Given the description of an element on the screen output the (x, y) to click on. 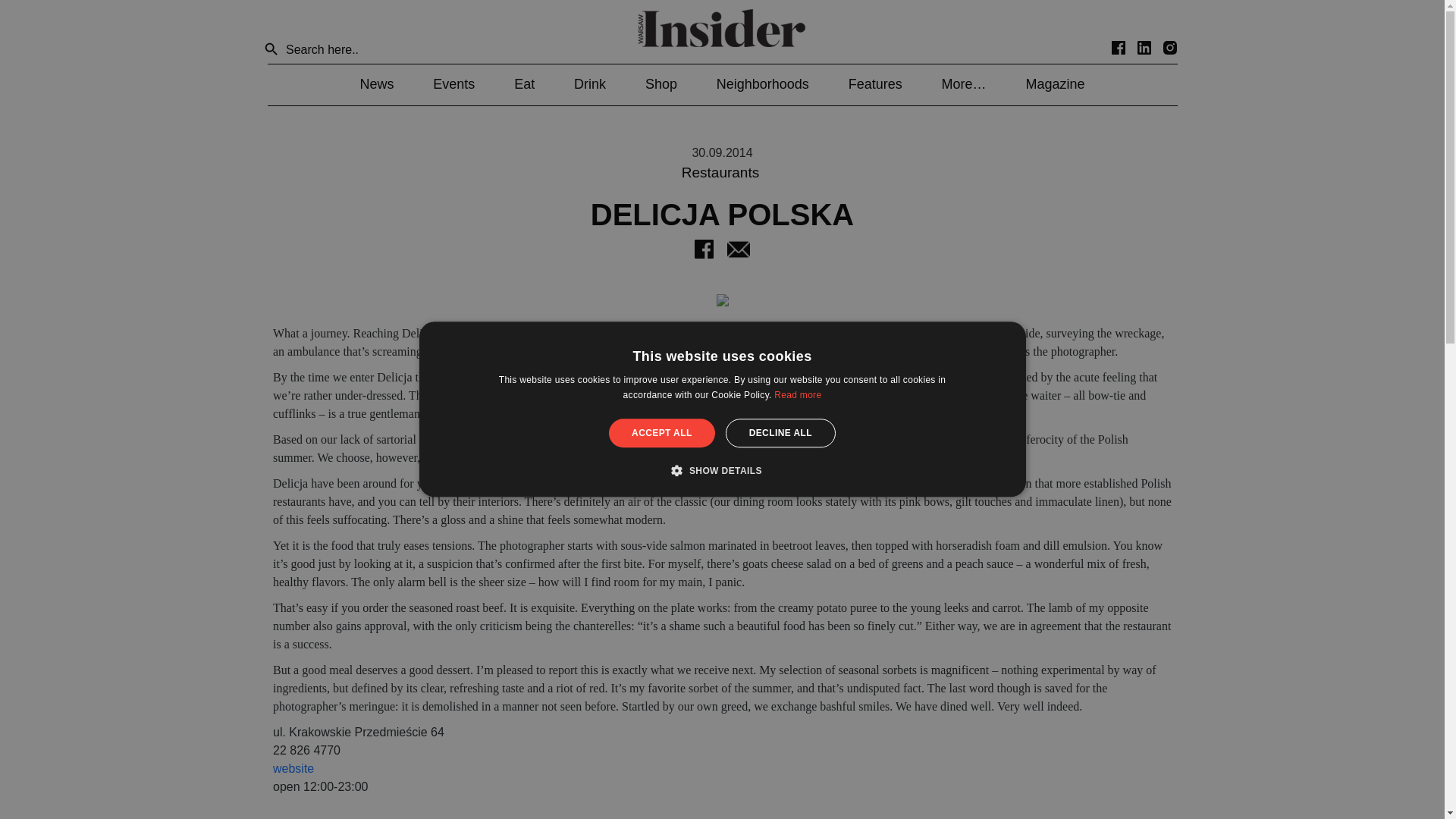
Magazine (1054, 83)
News (376, 83)
Neighborhoods (762, 83)
Drink (589, 83)
Eat (523, 83)
Search Button (271, 49)
Features (875, 83)
Events (453, 83)
Shop (661, 83)
